Given the description of an element on the screen output the (x, y) to click on. 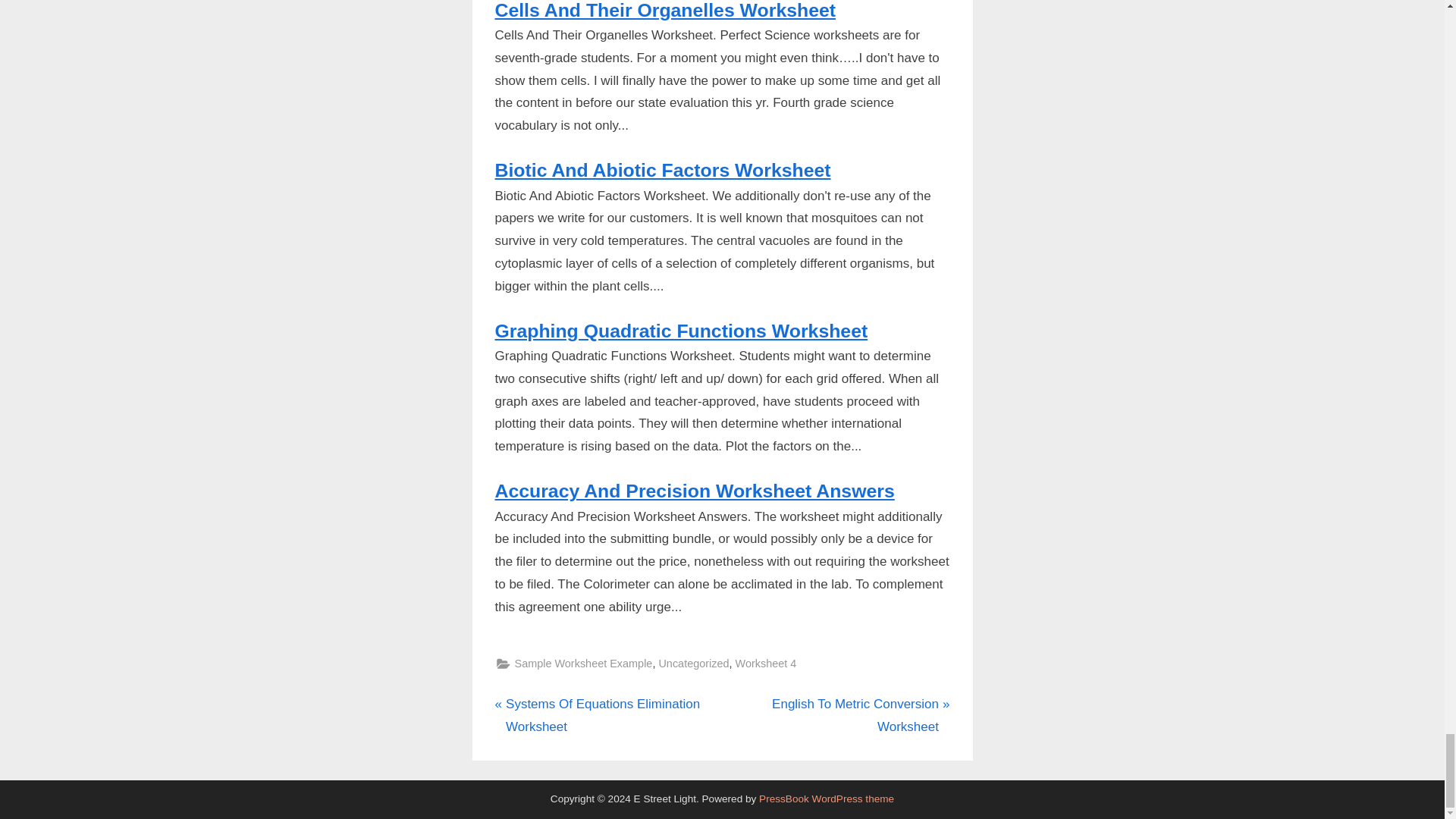
Cells And Their Organelles Worksheet (665, 10)
Biotic And Abiotic Factors Worksheet (837, 715)
Worksheet 4 (662, 169)
Sample Worksheet Example (765, 663)
Uncategorized (582, 663)
Graphing Quadratic Functions Worksheet (693, 663)
Accuracy And Precision Worksheet Answers (681, 331)
